Given the description of an element on the screen output the (x, y) to click on. 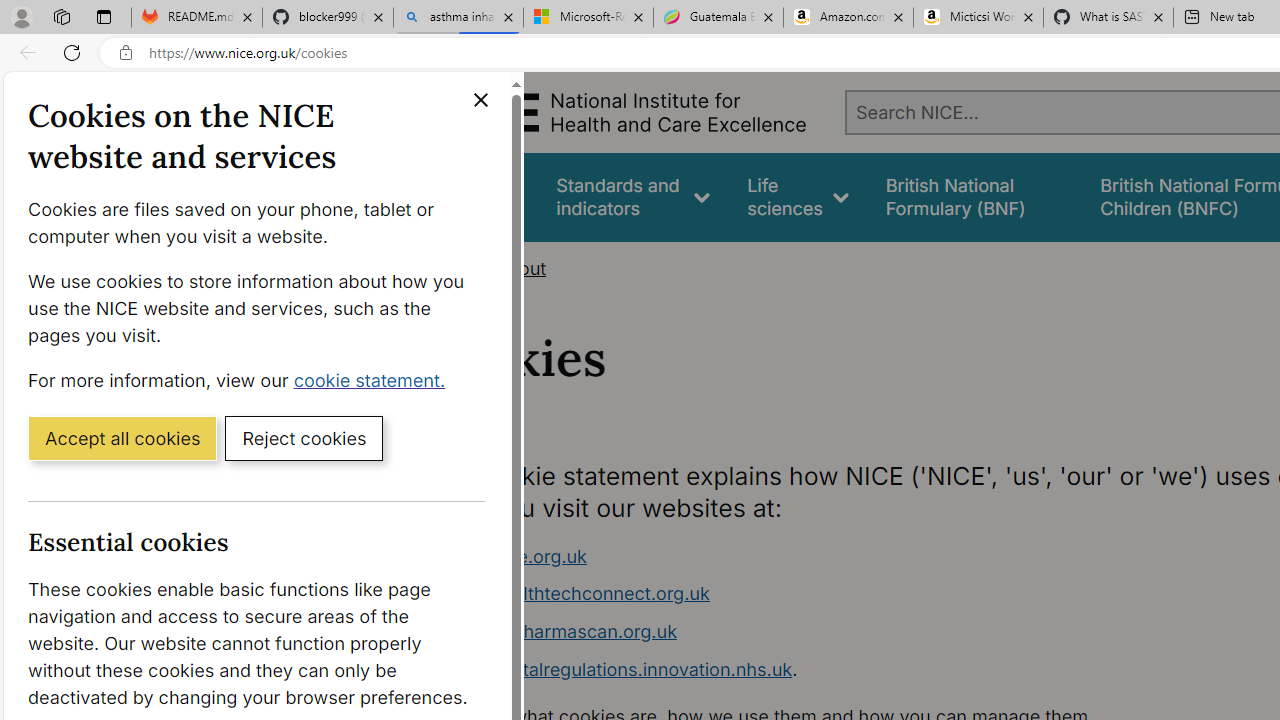
www.healthtechconnect.org.uk (576, 593)
www.nice.org.uk (514, 556)
www.nice.org.uk (818, 556)
